Given the description of an element on the screen output the (x, y) to click on. 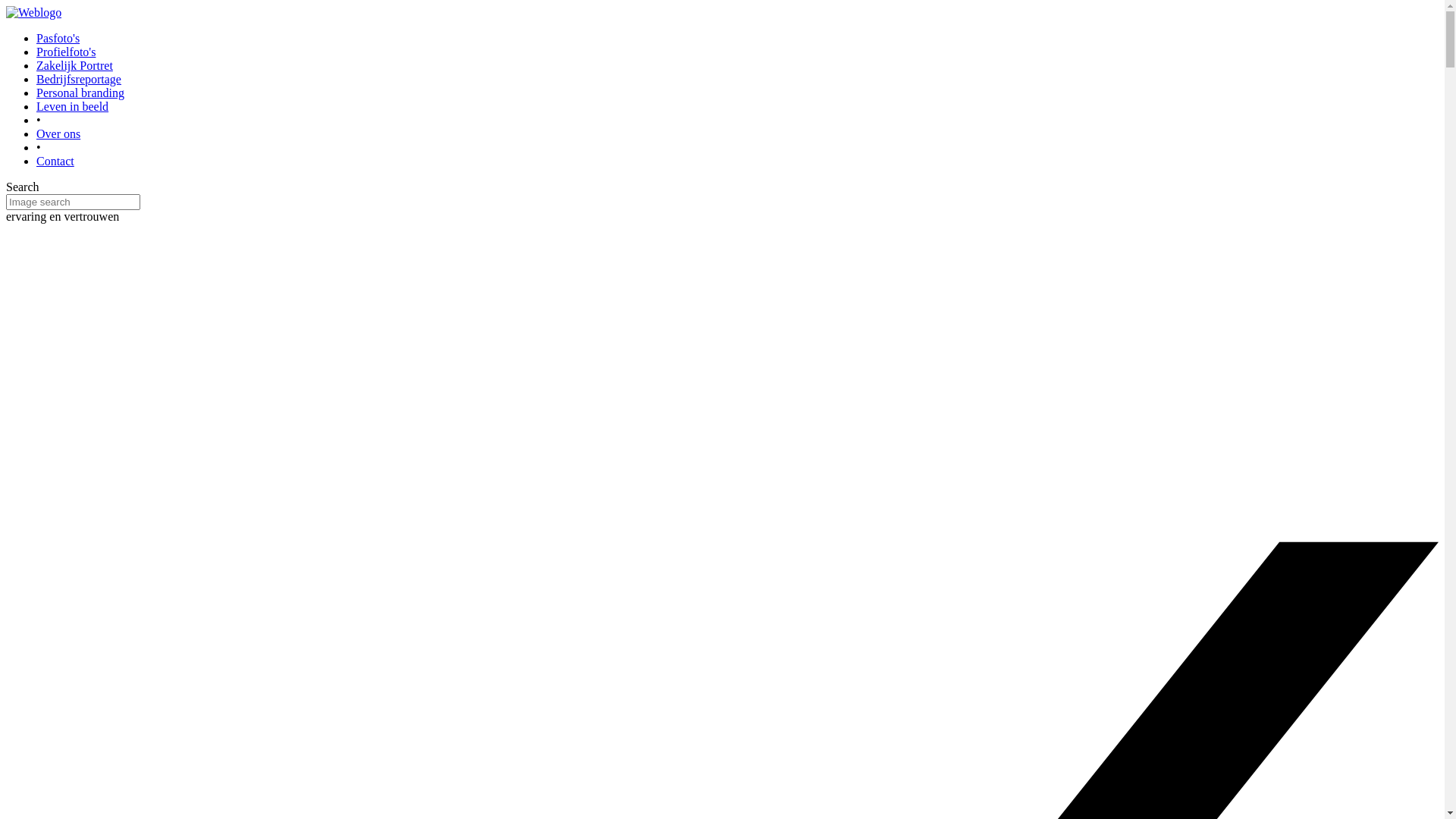
Bedrijfsreportage Element type: text (78, 78)
Over ons Element type: text (58, 133)
Leven in beeld Element type: text (72, 106)
Pasfoto's Element type: text (57, 37)
Personal branding Element type: text (80, 92)
Zakelijk Portret Element type: text (74, 65)
Contact Element type: text (55, 160)
Profielfoto's Element type: text (65, 51)
